Given the description of an element on the screen output the (x, y) to click on. 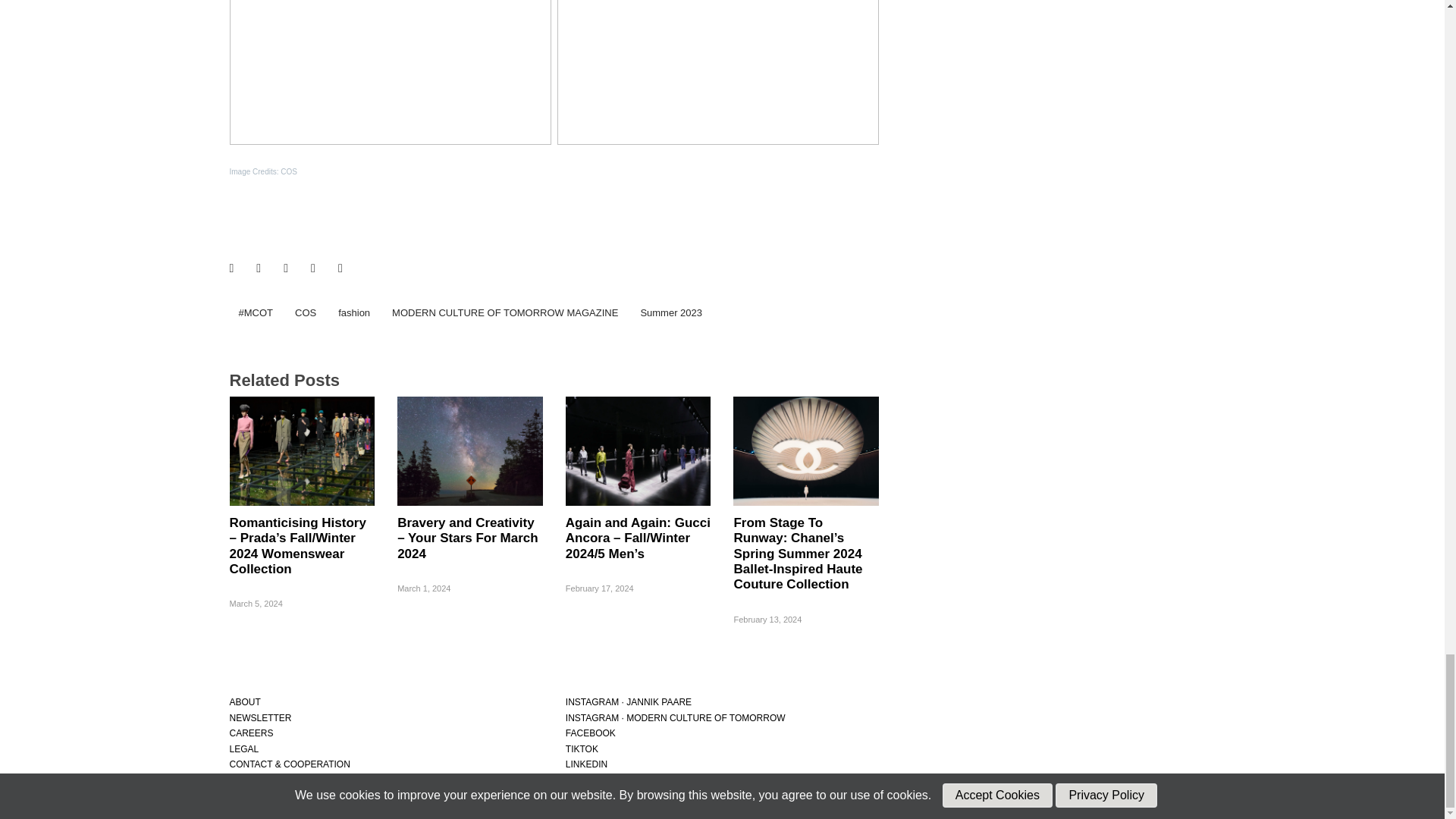
MODERN CULTURE OF TOMORROW MAGAZINE (504, 312)
Summer 2023 (670, 312)
fashion (353, 312)
COS (304, 312)
